Given the description of an element on the screen output the (x, y) to click on. 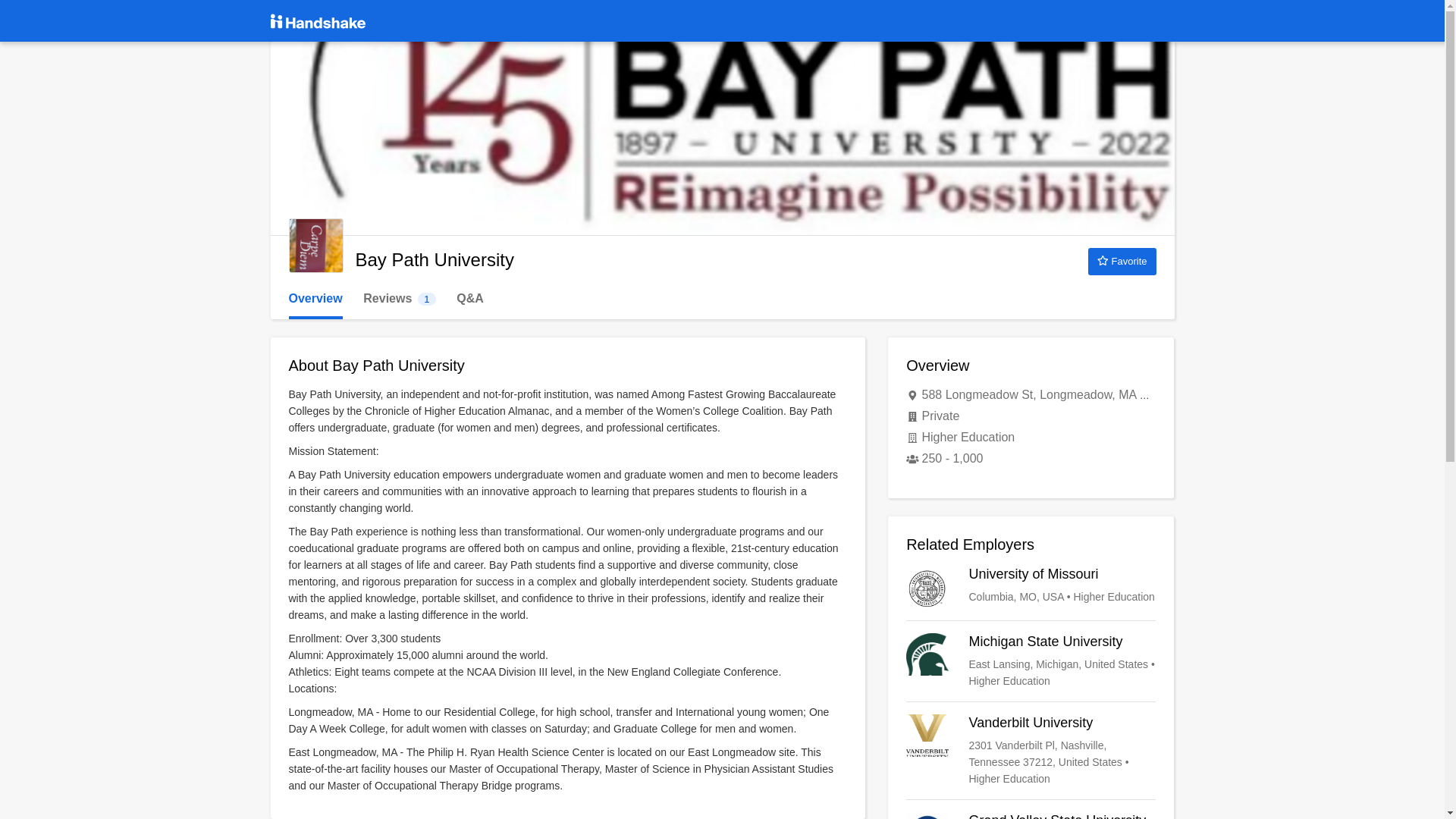
Overview (315, 298)
Favorite (1121, 261)
Bay Path University (315, 245)
Michigan State University (398, 298)
Grand Valley State University (1030, 661)
Vanderbilt University (1030, 815)
University of Missouri (1030, 750)
